Given the description of an element on the screen output the (x, y) to click on. 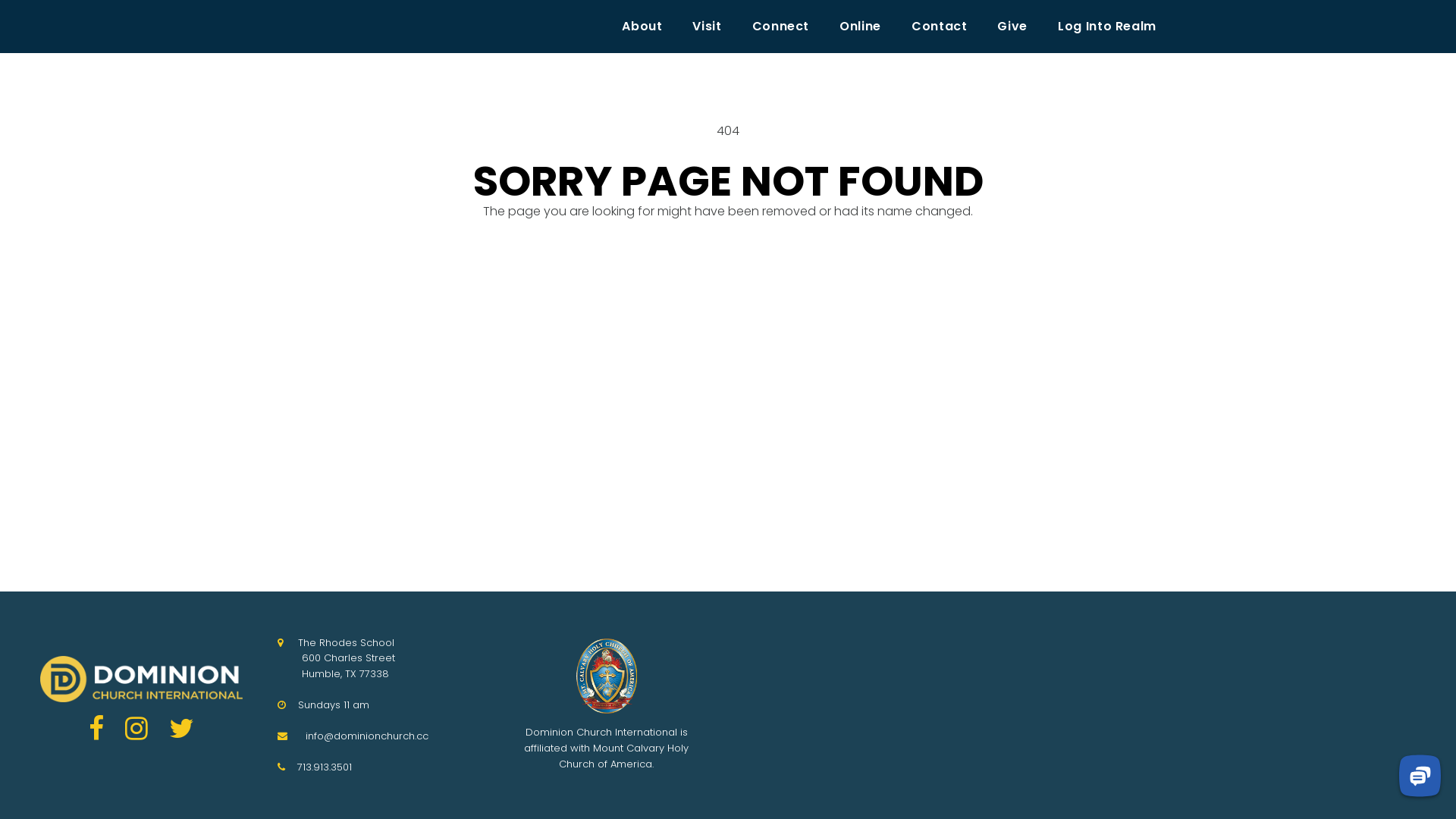
Connect Element type: text (780, 26)
Log Into Realm Element type: text (1106, 26)
Online Element type: text (860, 26)
About Element type: text (641, 26)
Visit Element type: text (706, 26)
Contact Element type: text (939, 26)
Give Element type: text (1012, 26)
Dominion Church International Church in Humble, Tx Element type: hover (141, 678)
  Element type: text (292, 642)
